Given the description of an element on the screen output the (x, y) to click on. 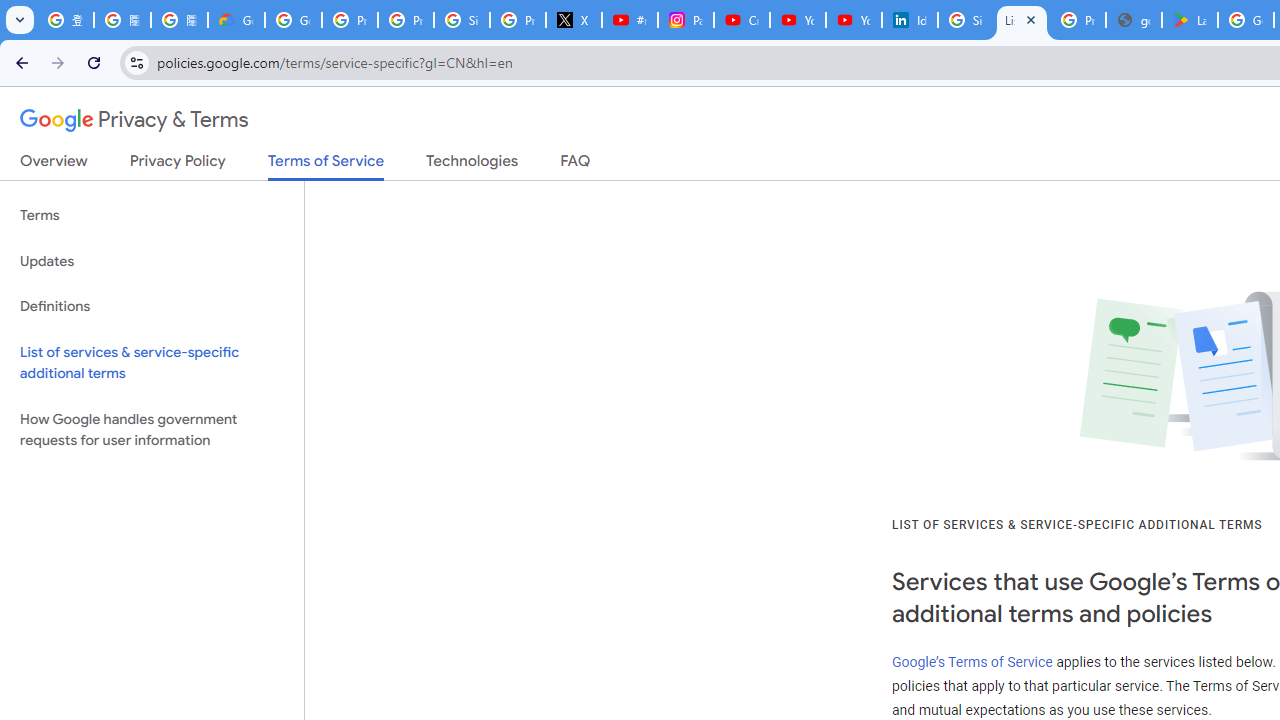
Last Shelter: Survival - Apps on Google Play (1190, 20)
Sign in - Google Accounts (461, 20)
How Google handles government requests for user information (152, 429)
